Given the description of an element on the screen output the (x, y) to click on. 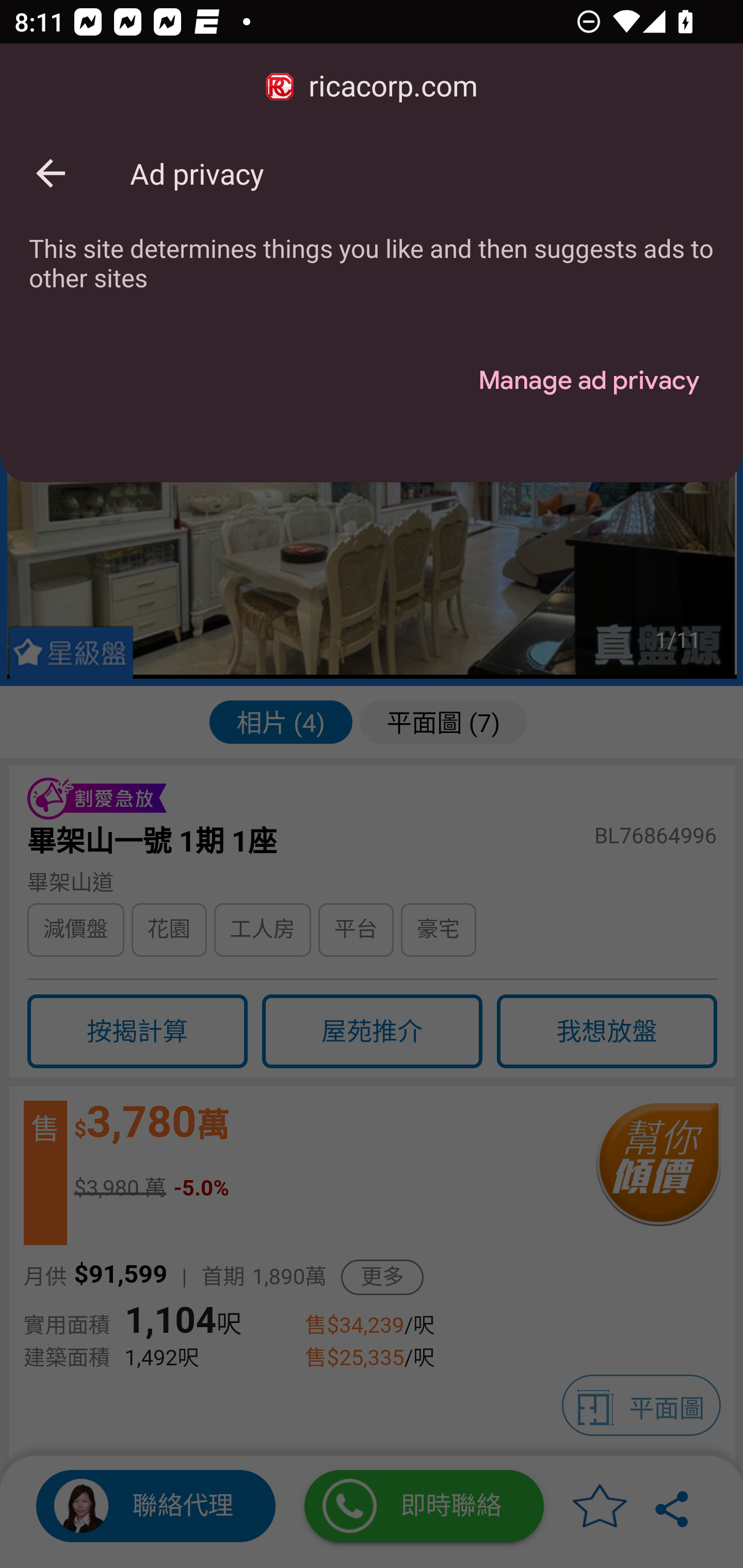
ricacorp.com (371, 86)
Back (50, 173)
Manage ad privacy (588, 380)
